Given the description of an element on the screen output the (x, y) to click on. 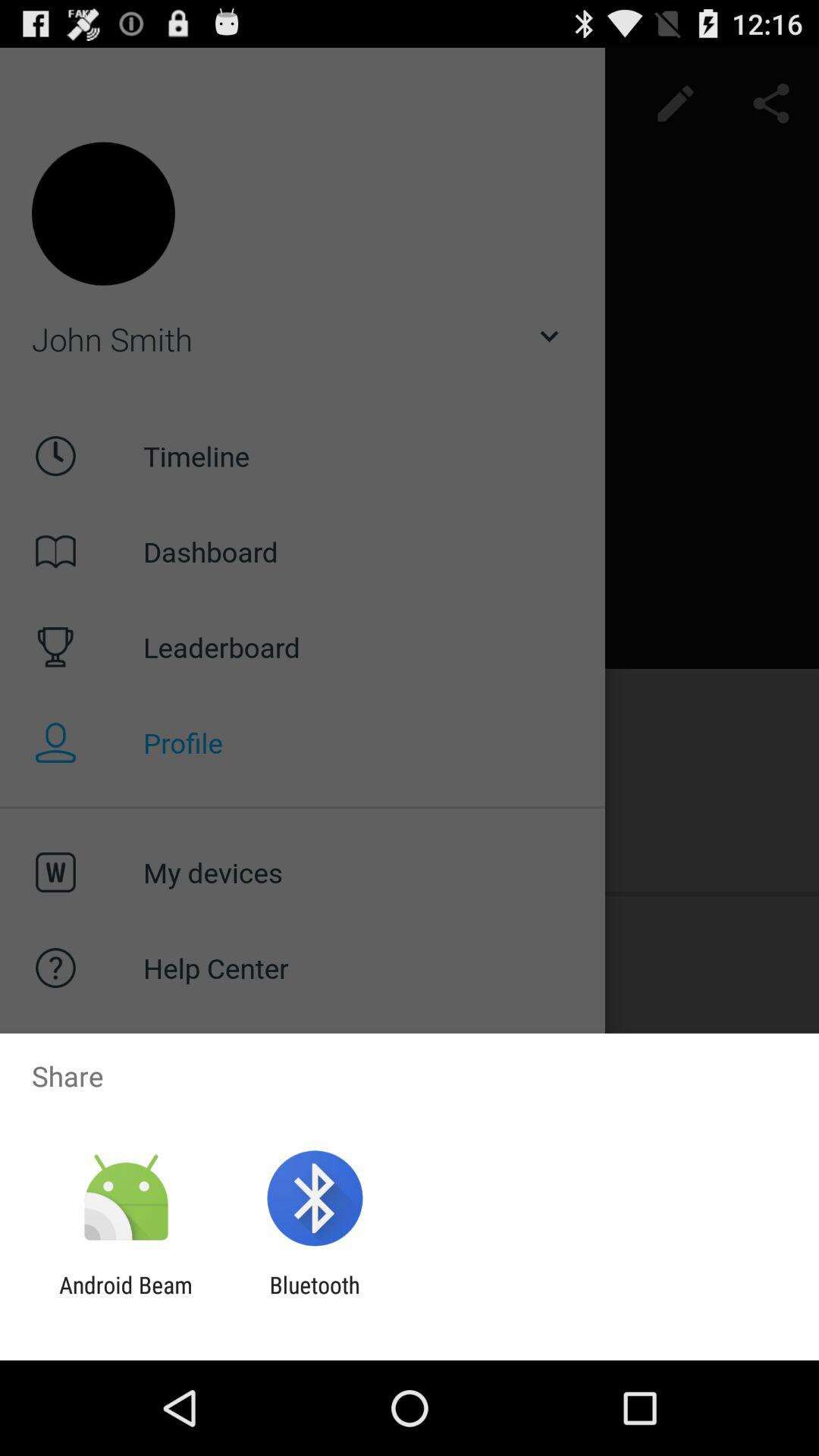
choose the icon to the left of bluetooth (125, 1298)
